Given the description of an element on the screen output the (x, y) to click on. 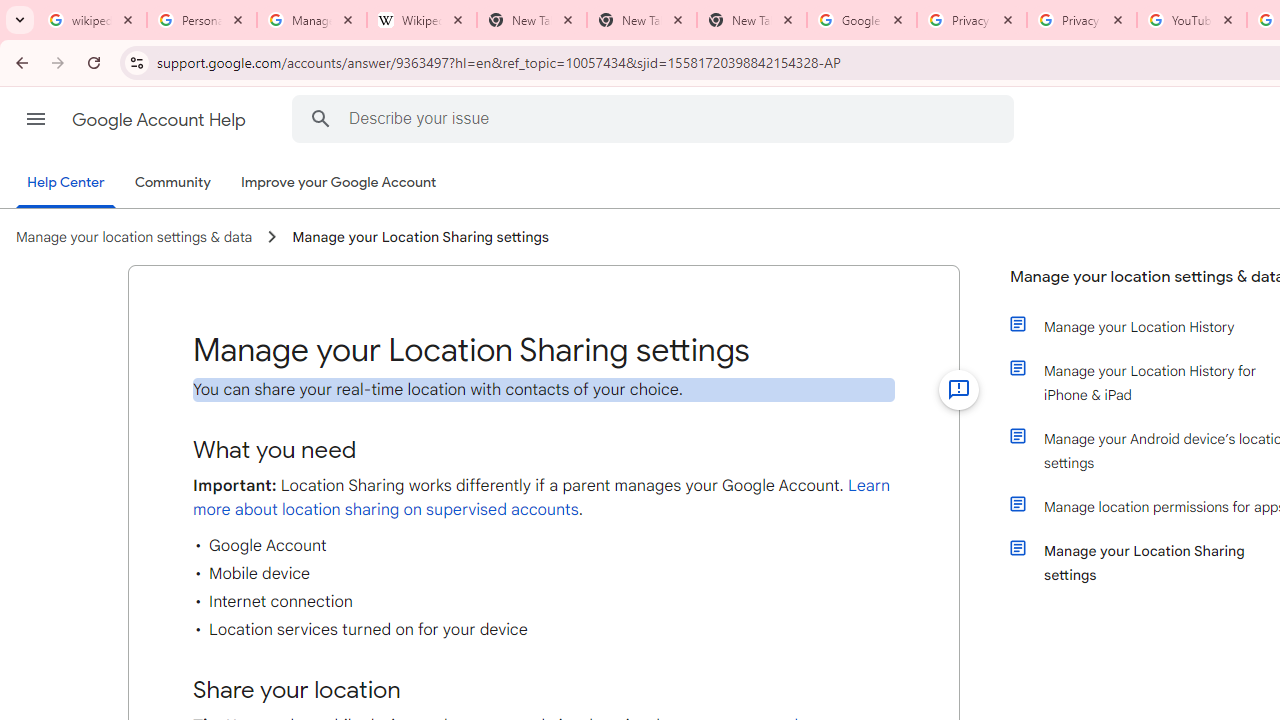
Wikipedia:Edit requests - Wikipedia (422, 20)
Google Drive: Sign-in (861, 20)
